Given the description of an element on the screen output the (x, y) to click on. 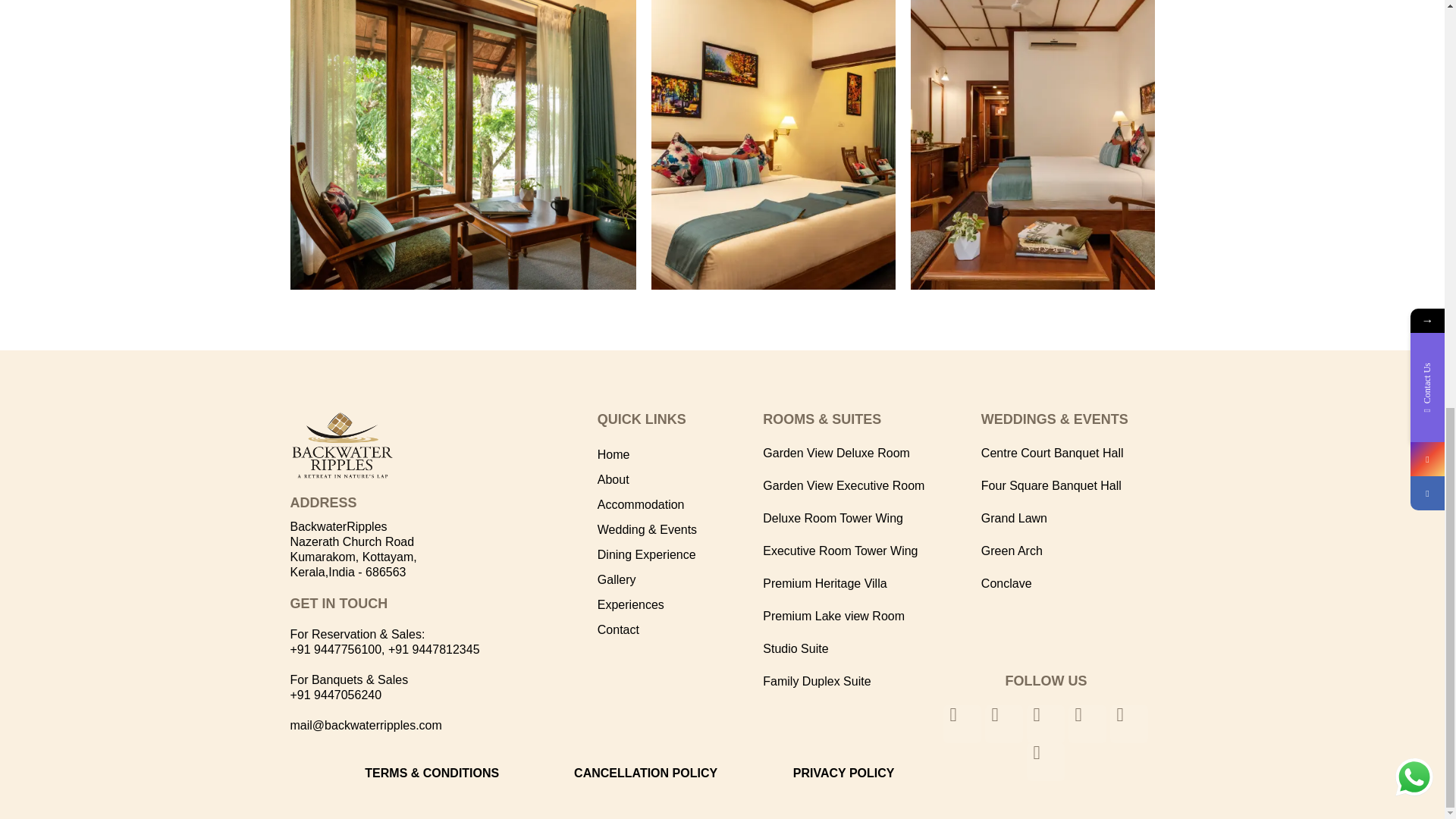
Gallery (679, 579)
Dining Experience (679, 554)
About (679, 479)
Contact (679, 630)
Home (679, 454)
Experiences (679, 604)
Accommodation (679, 504)
